Given the description of an element on the screen output the (x, y) to click on. 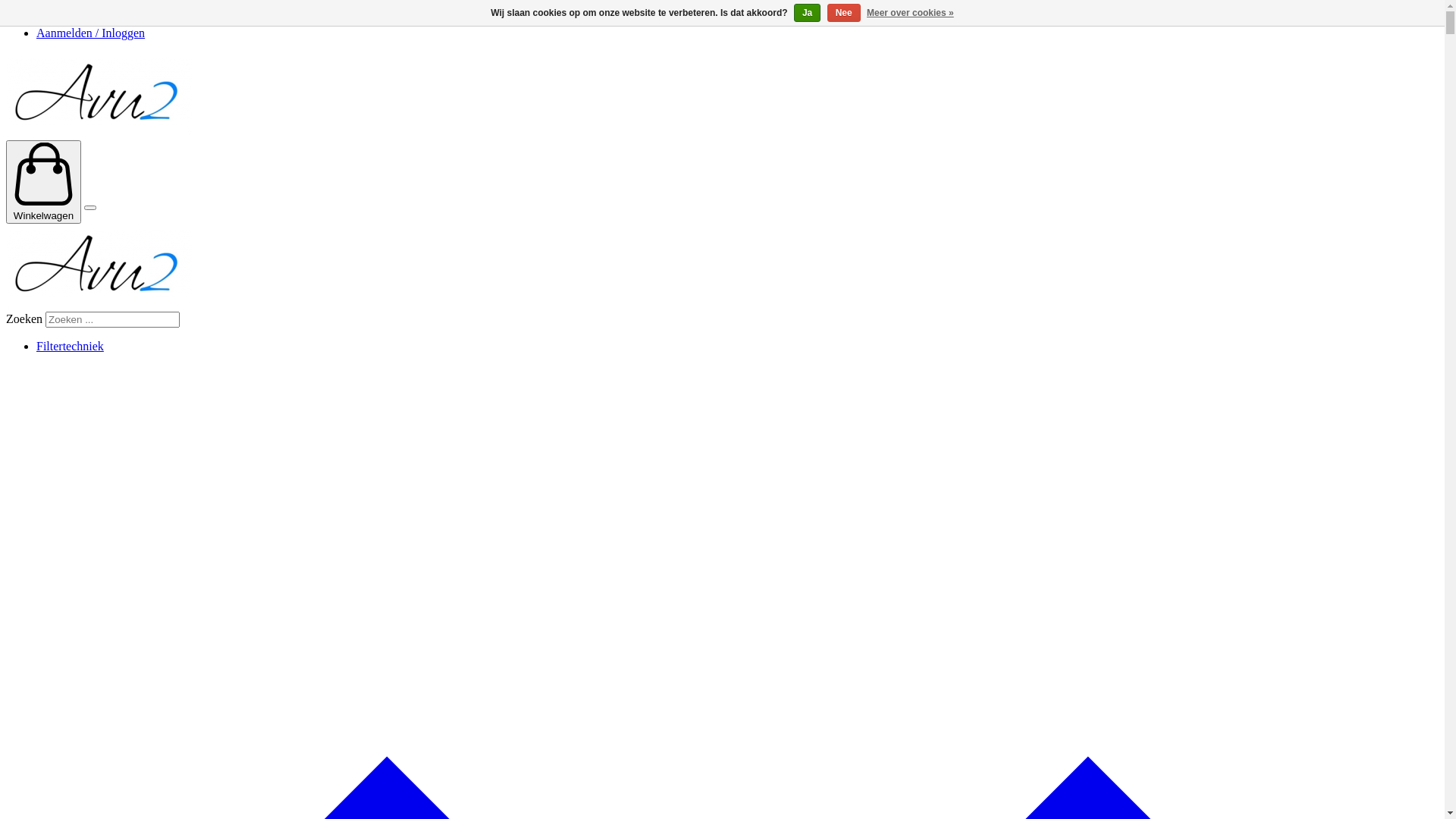
Winkelwagen in-/uitschakelen Winkelwagen Element type: text (43, 181)
Aanmelden / Inloggen Element type: text (90, 32)
Nee Element type: text (843, 12)
Ja Element type: text (806, 12)
